Given the description of an element on the screen output the (x, y) to click on. 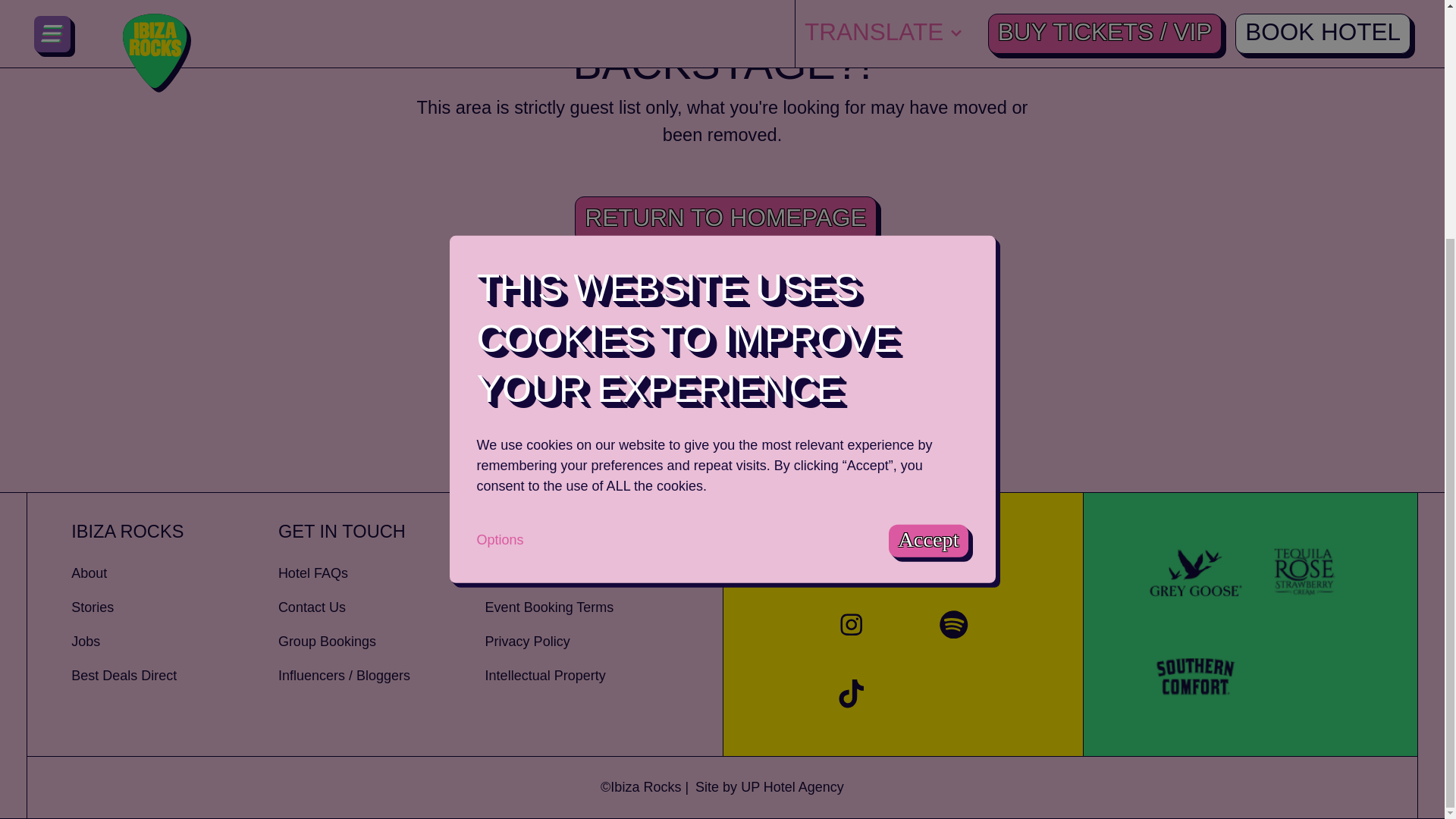
Jobs (174, 641)
RETURN TO HOMEPAGE (725, 219)
Options (499, 212)
Hotel Terms (588, 573)
GET IN TOUCH (381, 531)
Group Bookings (381, 641)
Contact Us (381, 607)
IBIZA ROCKS (174, 531)
Stories (174, 607)
Accept (928, 214)
LEGAL (588, 531)
About (174, 573)
Hotel FAQs (381, 573)
Best Deals Direct (174, 675)
